Given the description of an element on the screen output the (x, y) to click on. 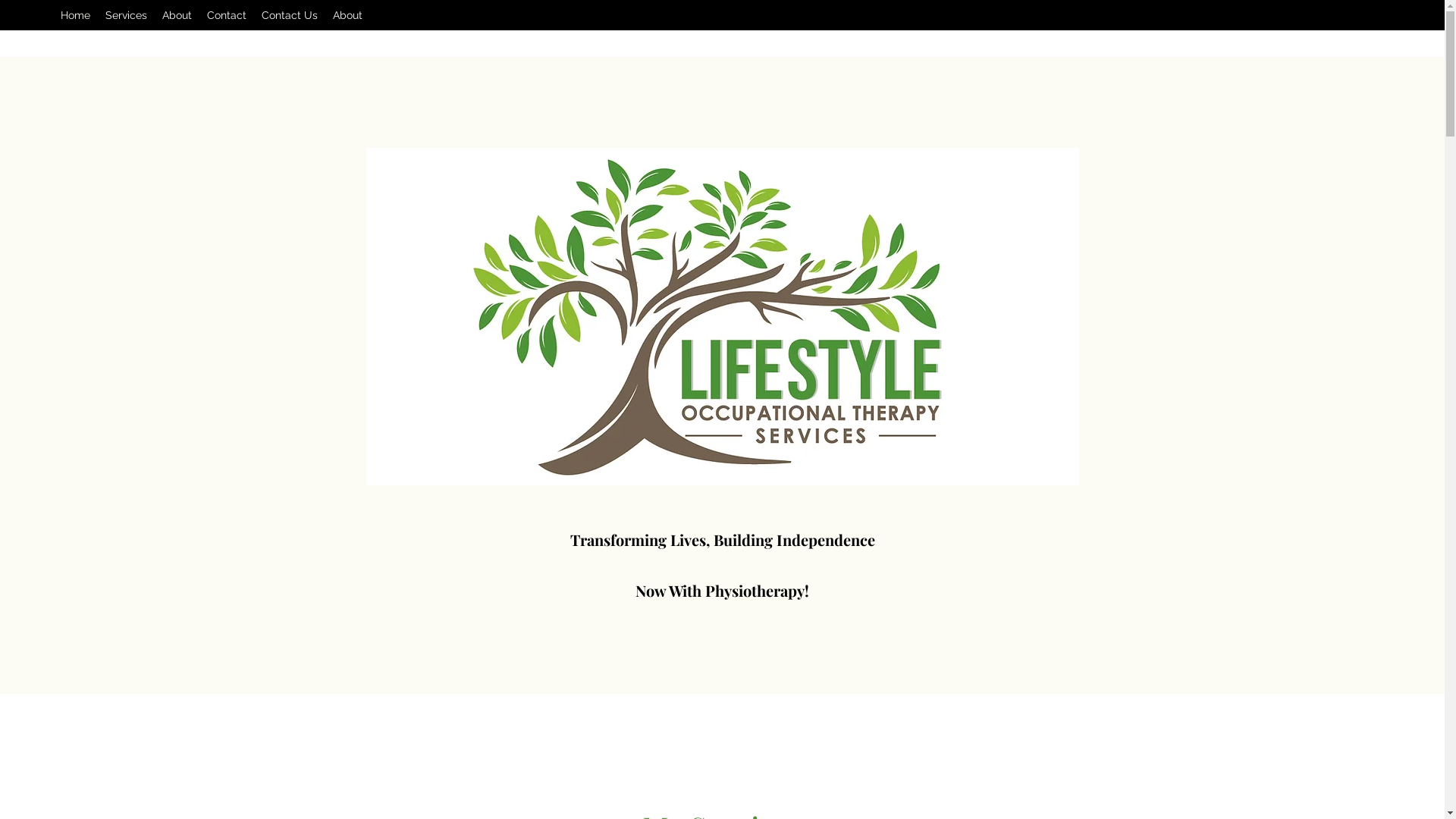
About Element type: text (347, 14)
Contact Us Element type: text (289, 14)
About Element type: text (176, 14)
Home Element type: text (75, 14)
Services Element type: text (125, 14)
Contact Element type: text (226, 14)
